Given the description of an element on the screen output the (x, y) to click on. 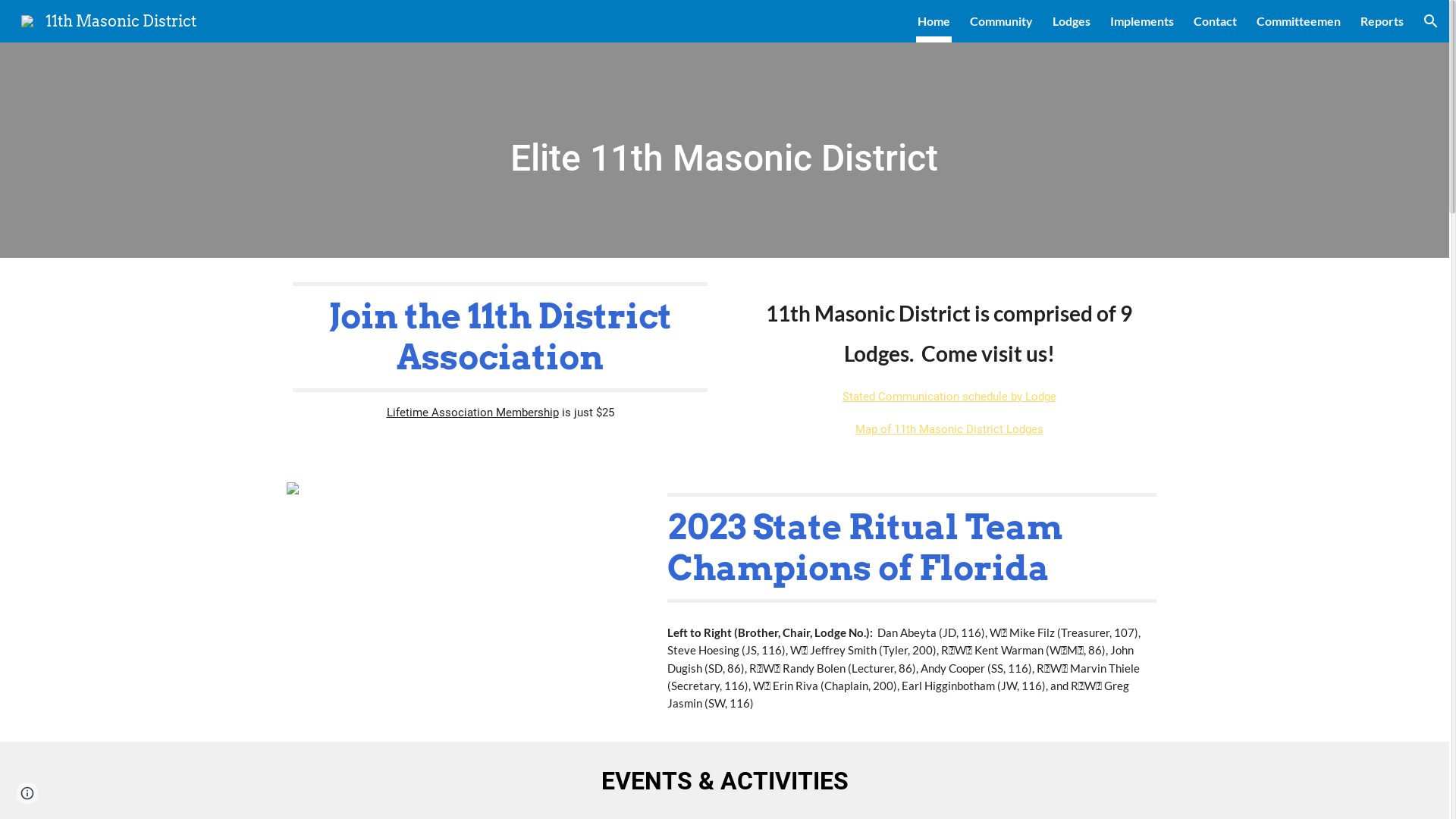
Reports Element type: text (1381, 20)
Map of 11th Masonic District Lodges Element type: text (949, 428)
Community Element type: text (1000, 20)
11th Masonic District Element type: text (108, 19)
Stated Communication schedule by Lodge Element type: text (948, 395)
Contact Element type: text (1214, 20)
Committeemen Element type: text (1298, 20)
Lifetime Association Membership Element type: text (472, 411)
Implements Element type: text (1141, 20)
Lodges Element type: text (1071, 20)
Home Element type: text (933, 20)
